Given the description of an element on the screen output the (x, y) to click on. 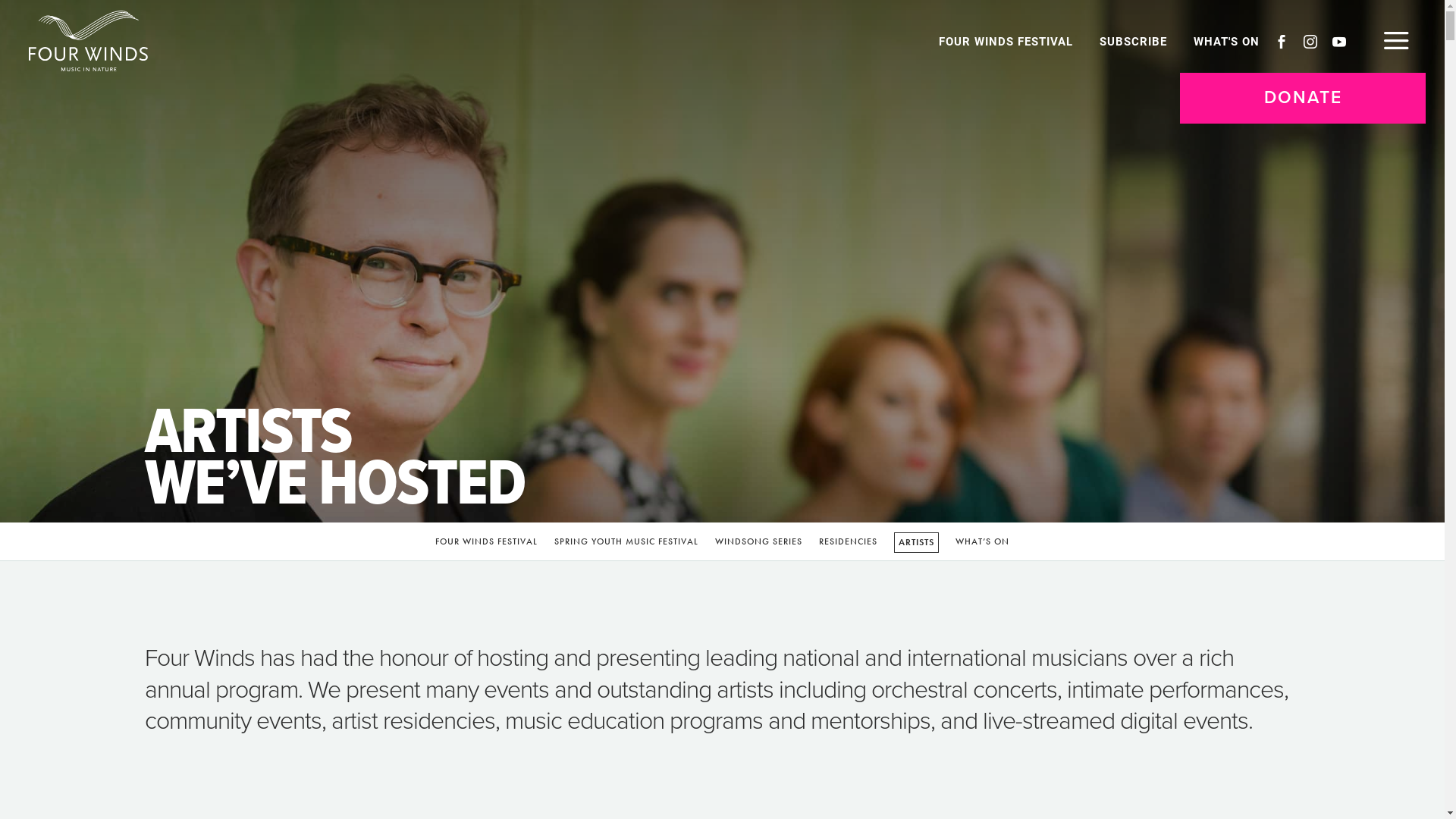
FOUR WINDS FESTIVAL Element type: text (486, 544)
FOUR WINDS FESTIVAL Element type: text (1011, 41)
DONATE Element type: text (1302, 97)
WINDSONG SERIES Element type: text (758, 544)
WHAT'S ON Element type: text (1231, 41)
ARTISTS Element type: text (916, 542)
a Element type: text (1394, 41)
RESIDENCIES Element type: text (848, 544)
SPRING YOUTH MUSIC FESTIVAL Element type: text (626, 544)
SUBSCRIBE Element type: text (1138, 41)
